Given the description of an element on the screen output the (x, y) to click on. 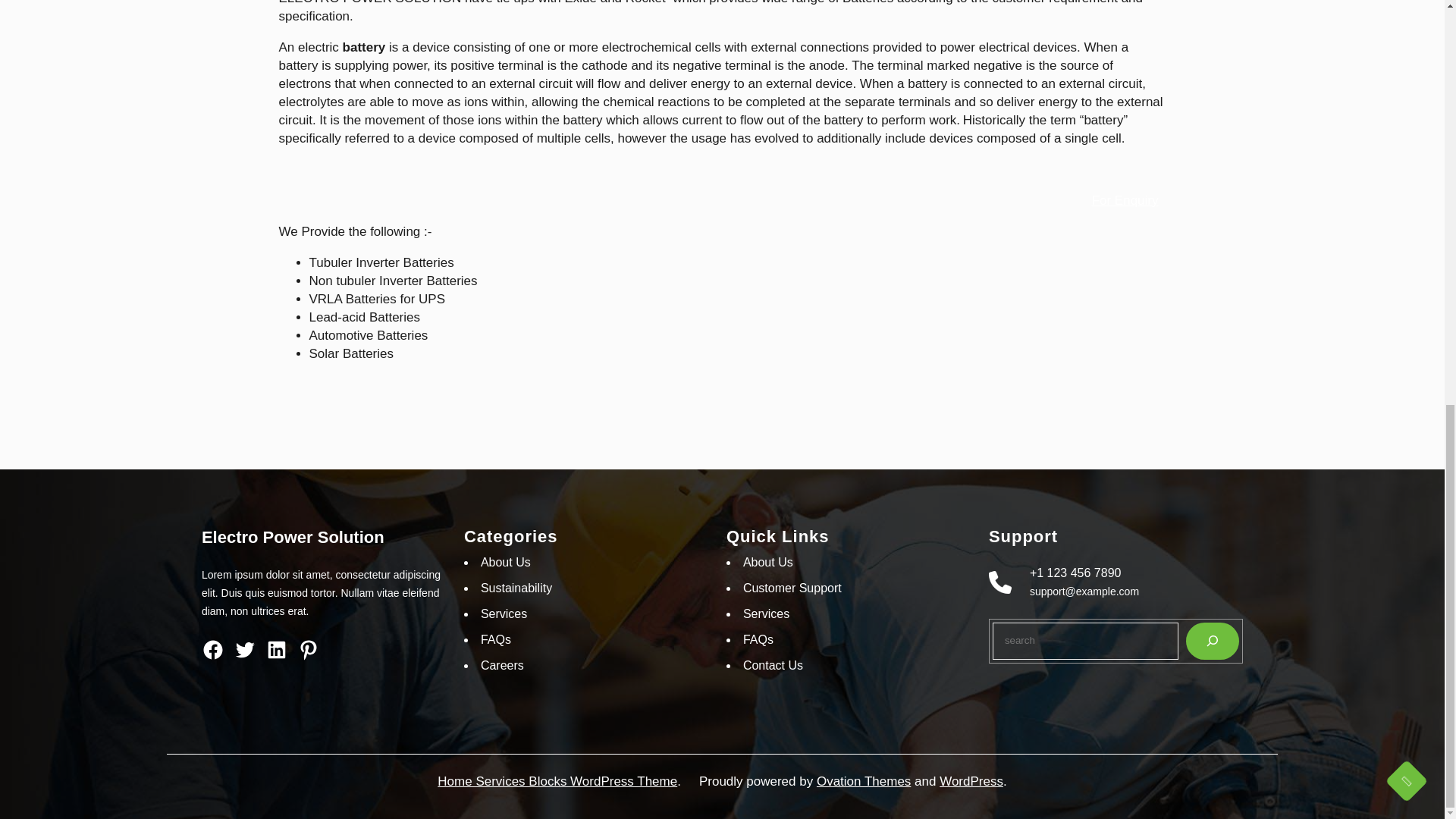
Electro Power Solution (293, 537)
LinkedIn (276, 649)
Sustainability (515, 587)
Services (503, 613)
Pinterest (308, 649)
Facebook (213, 649)
Ovation Themes (863, 780)
About Us (505, 562)
FAQs (495, 639)
WordPress (971, 780)
